Given the description of an element on the screen output the (x, y) to click on. 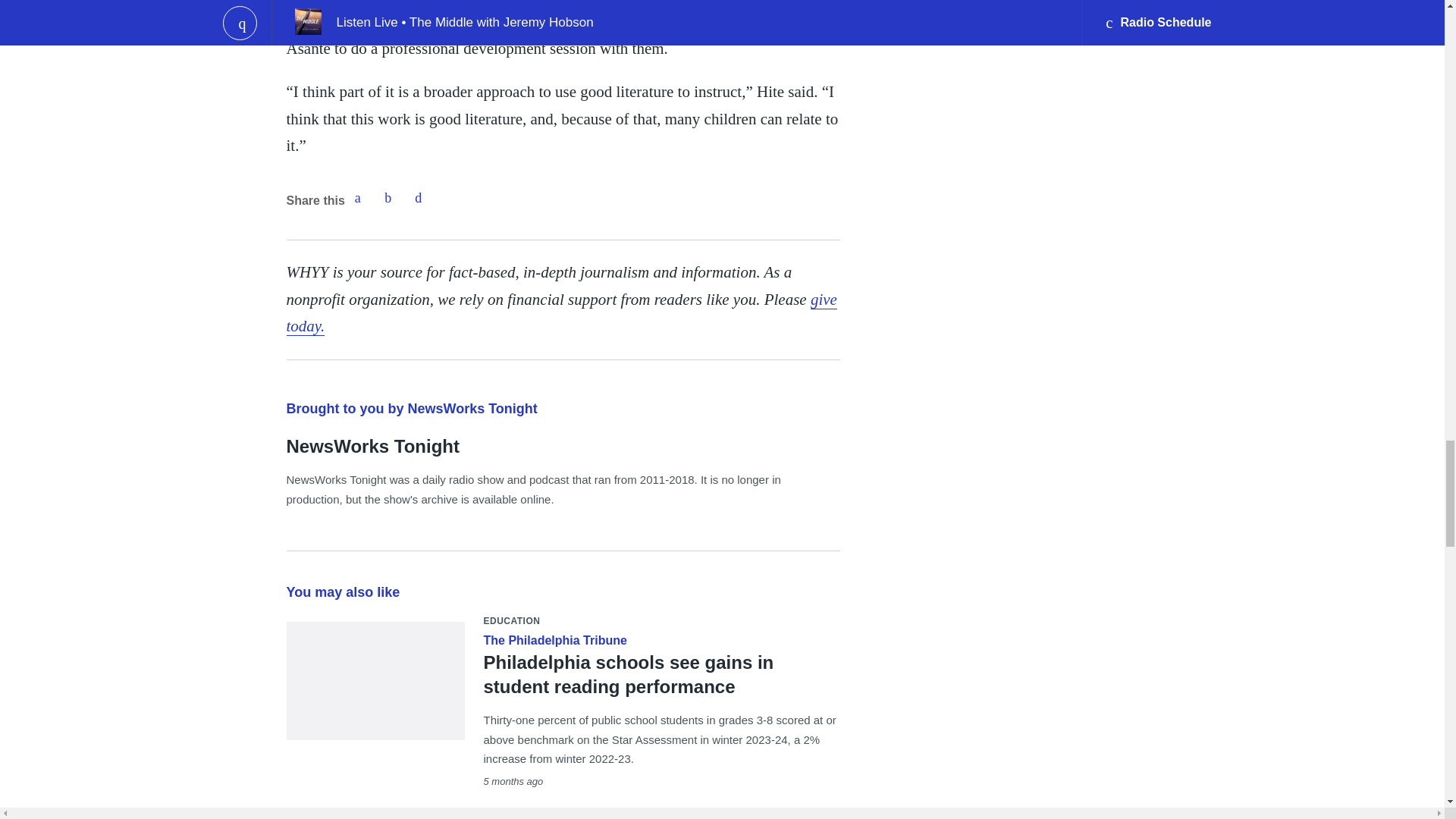
Twitter (387, 197)
Facebook (357, 197)
